Given the description of an element on the screen output the (x, y) to click on. 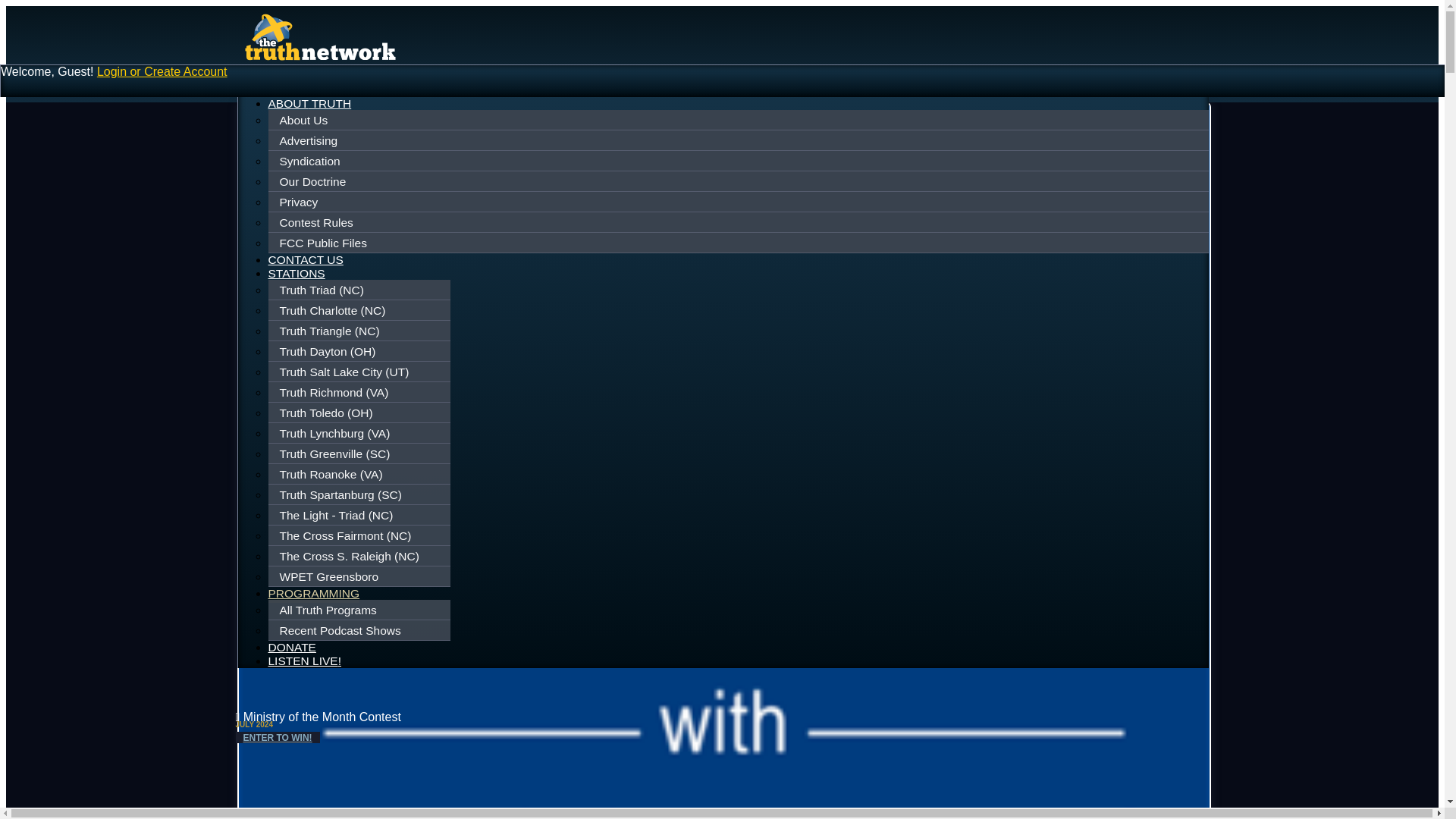
FCC Public Files (739, 243)
HOME (285, 89)
Our Doctrine (739, 181)
Privacy (739, 202)
STATIONS (295, 273)
CONTACT US (305, 259)
WPET Greensboro (360, 576)
Advertising (739, 140)
Syndication (739, 161)
ABOUT TRUTH (309, 103)
PROGRAMMING (313, 594)
About Us (739, 120)
Contest Rules (739, 222)
